Given the description of an element on the screen output the (x, y) to click on. 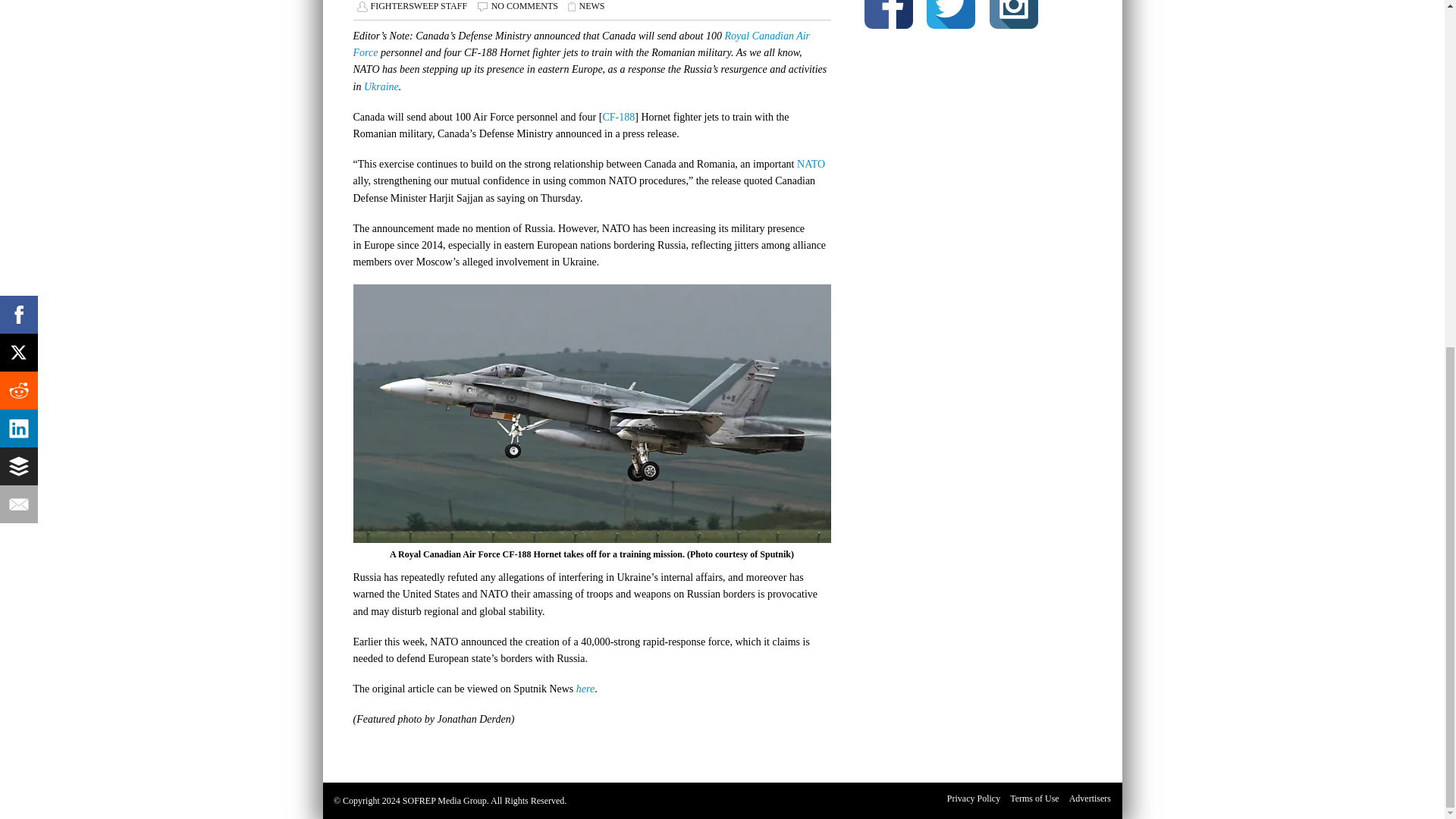
Posts by FighterSweep Staff (418, 5)
Royal Canadian Air Force (581, 43)
NATO (810, 163)
CF-188 (618, 116)
NEWS (591, 5)
FIGHTERSWEEP STAFF (418, 5)
SOFREP Media Group (444, 800)
Advertisers (1089, 798)
Terms of Use (1034, 798)
Follow FighterSweep on Twitter (950, 17)
Follow FighterSweep on Facebook (888, 17)
Privacy Policy (973, 798)
here (585, 688)
Ukraine (381, 86)
NO COMMENTS (524, 5)
